Given the description of an element on the screen output the (x, y) to click on. 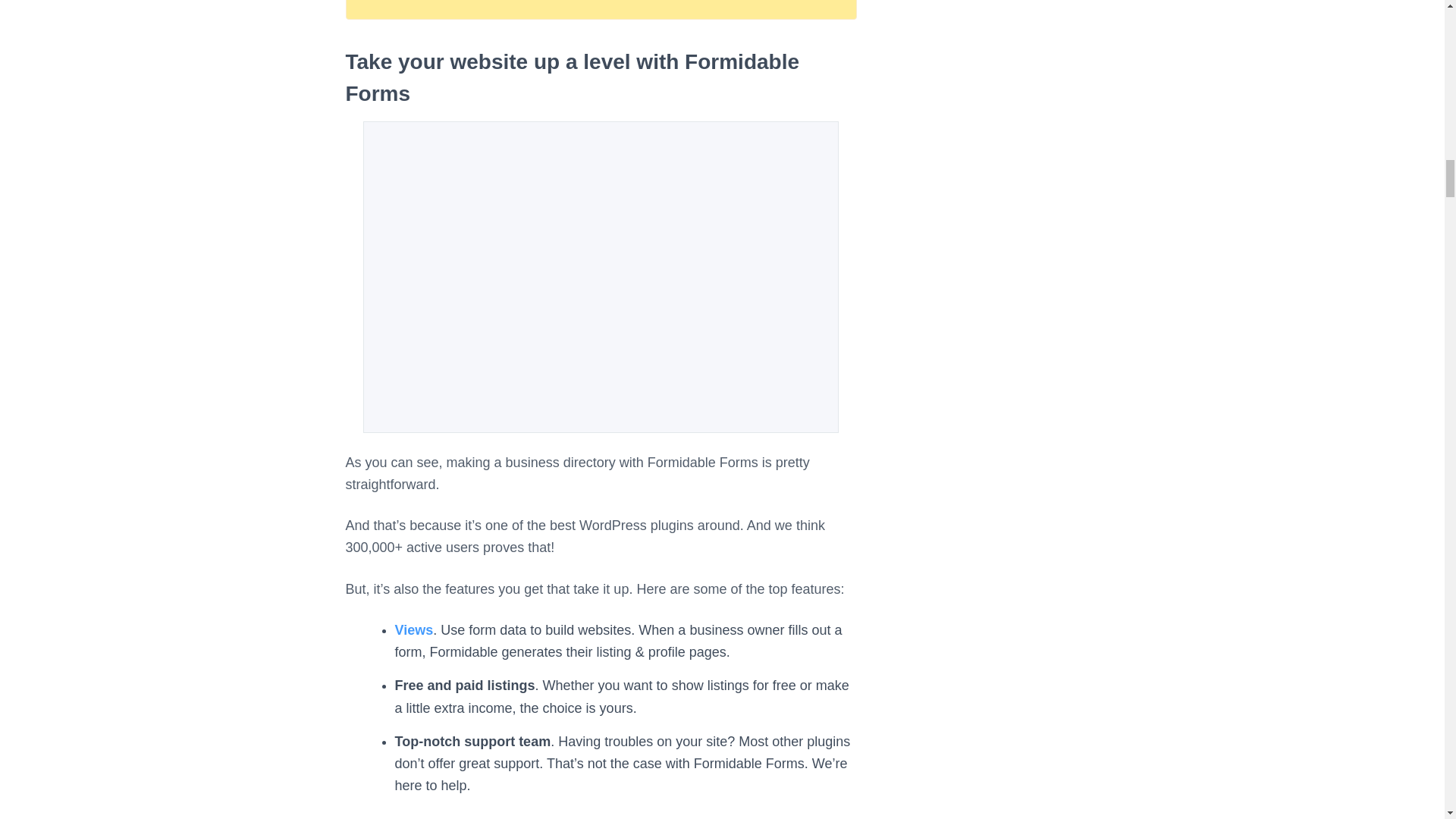
Views (413, 630)
